Given the description of an element on the screen output the (x, y) to click on. 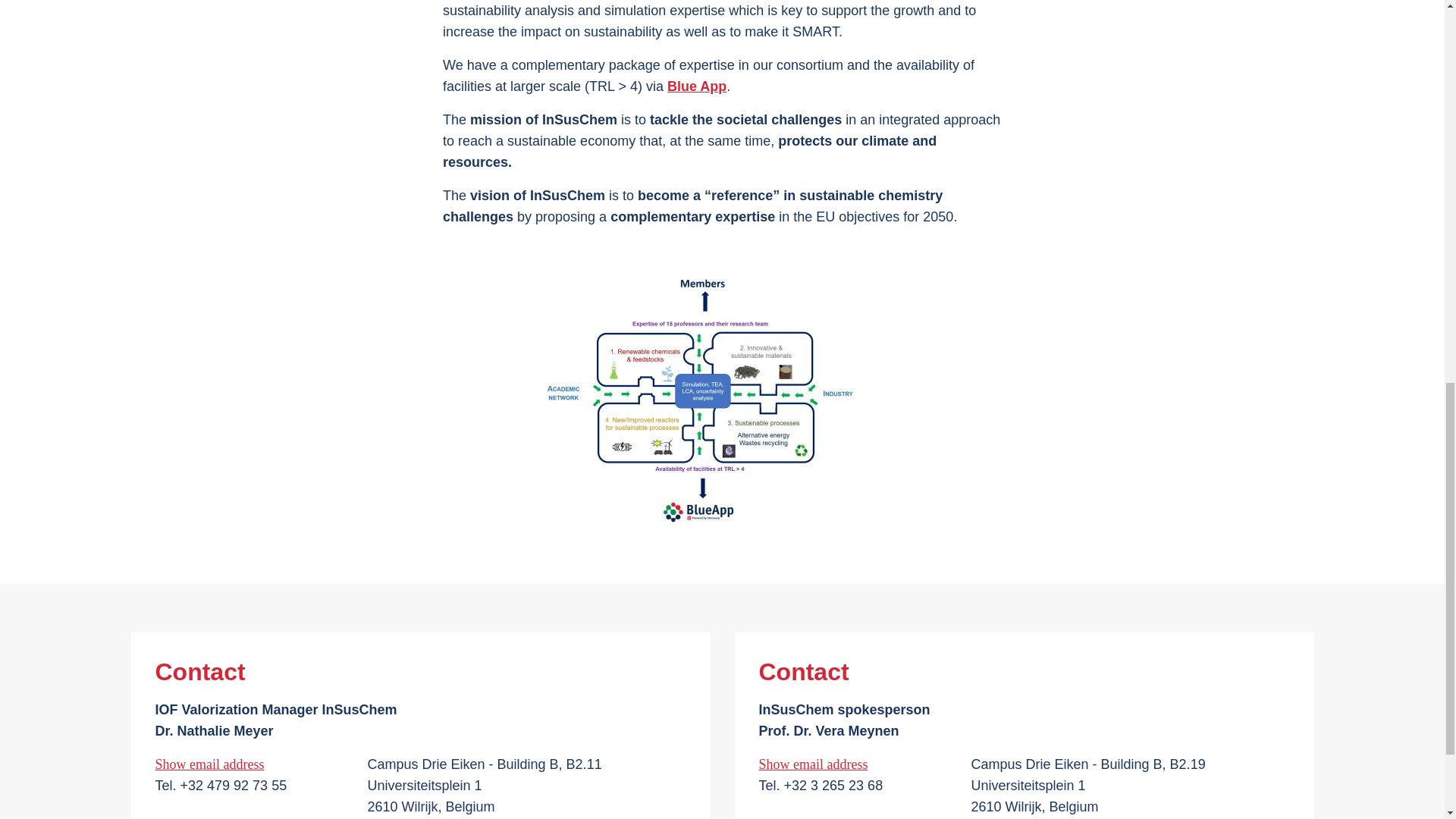
Show email address (234, 763)
Blue App (696, 86)
Show email address (837, 763)
